Given the description of an element on the screen output the (x, y) to click on. 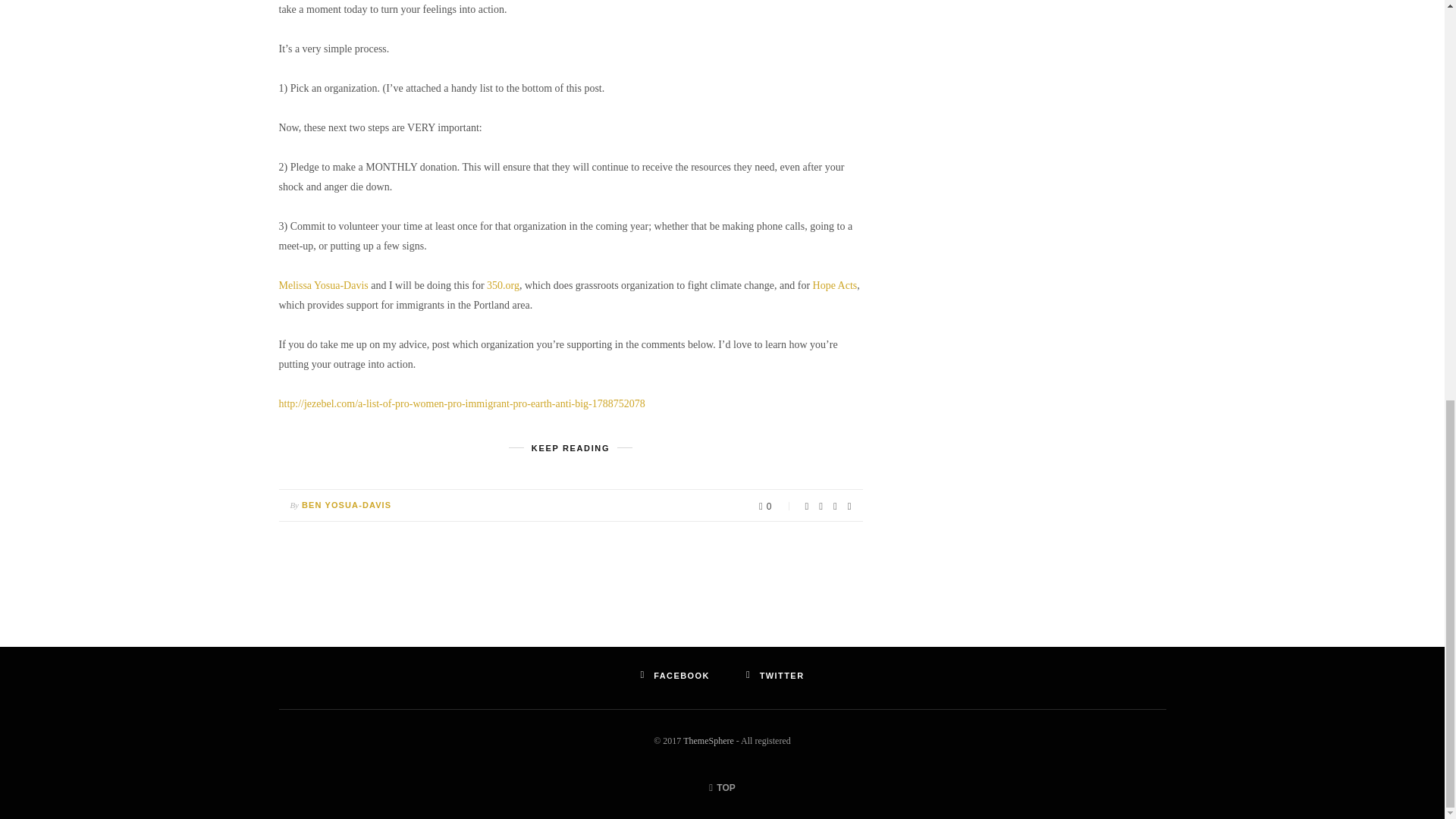
FACEBOOK (674, 674)
KEEP READING (570, 447)
BEN YOSUA-DAVIS (346, 504)
350.org (502, 285)
ThemeSphere (707, 740)
Hope Acts (834, 285)
TWITTER (775, 674)
0 (775, 506)
TOP (722, 787)
Melissa Yosua-Davis (323, 285)
